Given the description of an element on the screen output the (x, y) to click on. 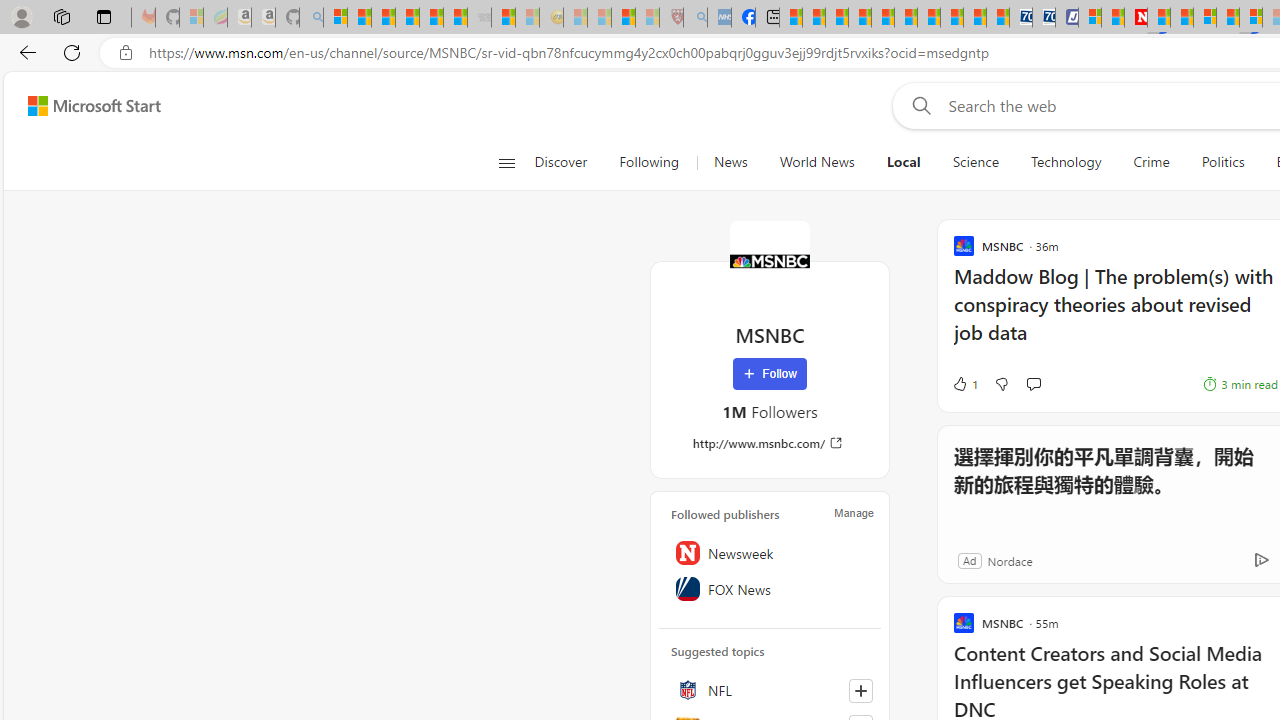
12 Popular Science Lies that Must be Corrected - Sleeping (647, 17)
New Report Confirms 2023 Was Record Hot | Watch (430, 17)
Newsweek (770, 552)
NFL (770, 690)
